Given the description of an element on the screen output the (x, y) to click on. 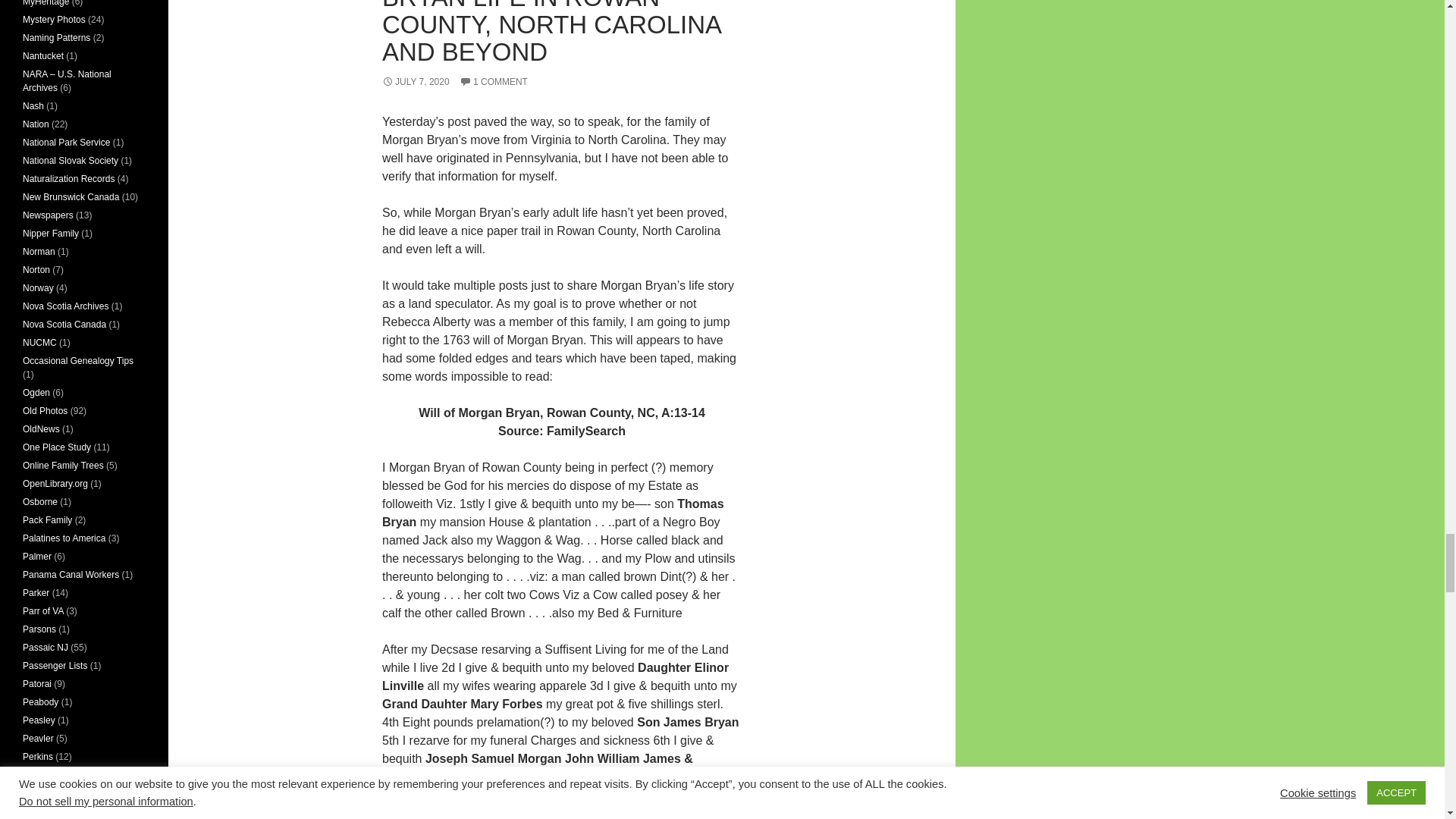
BRYAN LIFE IN ROWAN COUNTY, NORTH CAROLINA AND BEYOND (550, 33)
JULY 7, 2020 (415, 81)
